Given the description of an element on the screen output the (x, y) to click on. 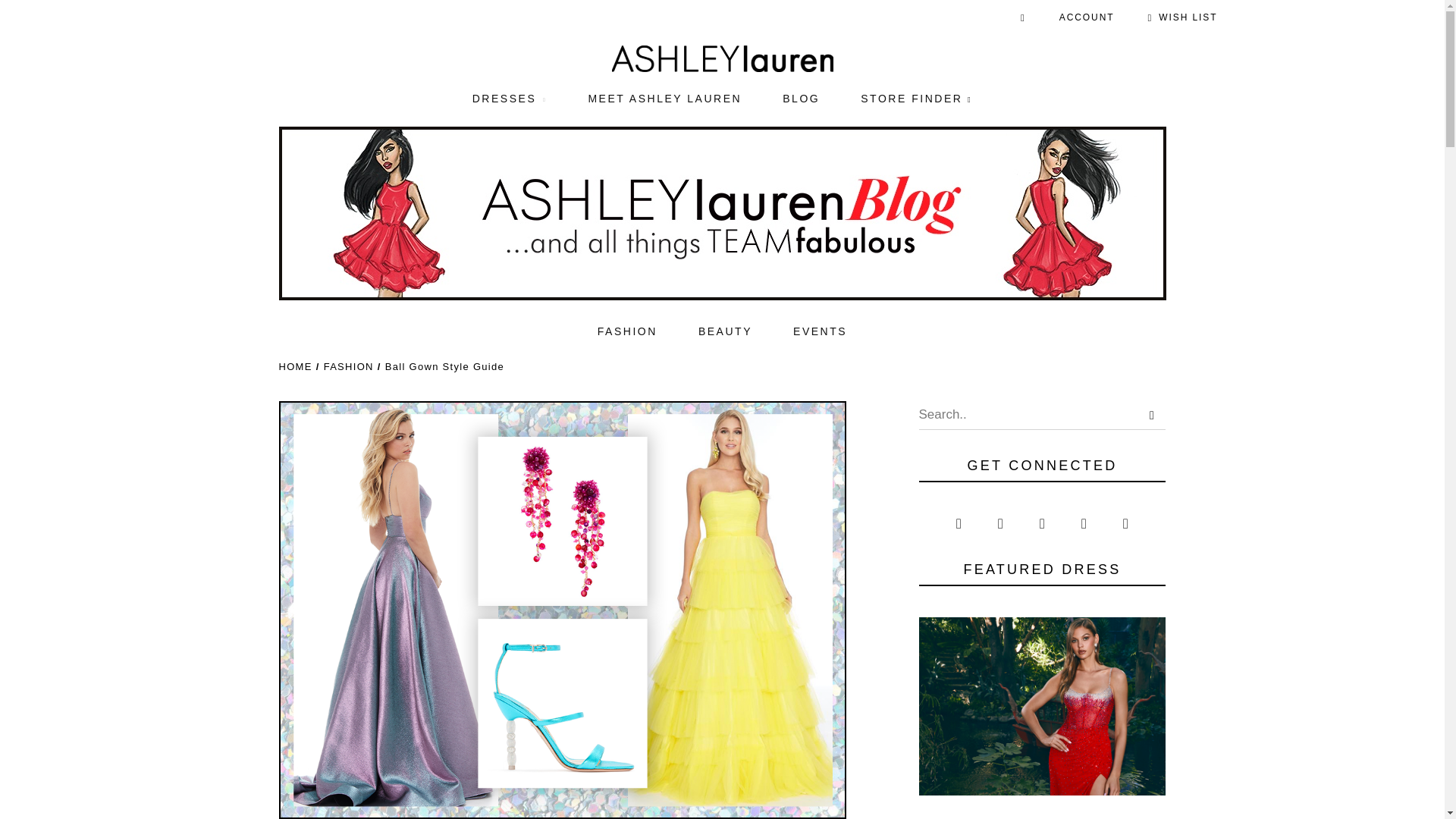
DRESSES (509, 97)
Youtube (1126, 523)
Twitter (1083, 523)
Facebook (958, 523)
WISH LIST (1182, 18)
EVENTS (820, 331)
BLOG (800, 97)
FEATURED DRESS (1042, 706)
FASHION (627, 331)
STORE FINDER (916, 98)
ACCOUNT (1086, 18)
Instagram (1000, 523)
MEET ASHLEY LAUREN (664, 97)
BEAUTY (725, 331)
Pinterest (1042, 523)
